Given the description of an element on the screen output the (x, y) to click on. 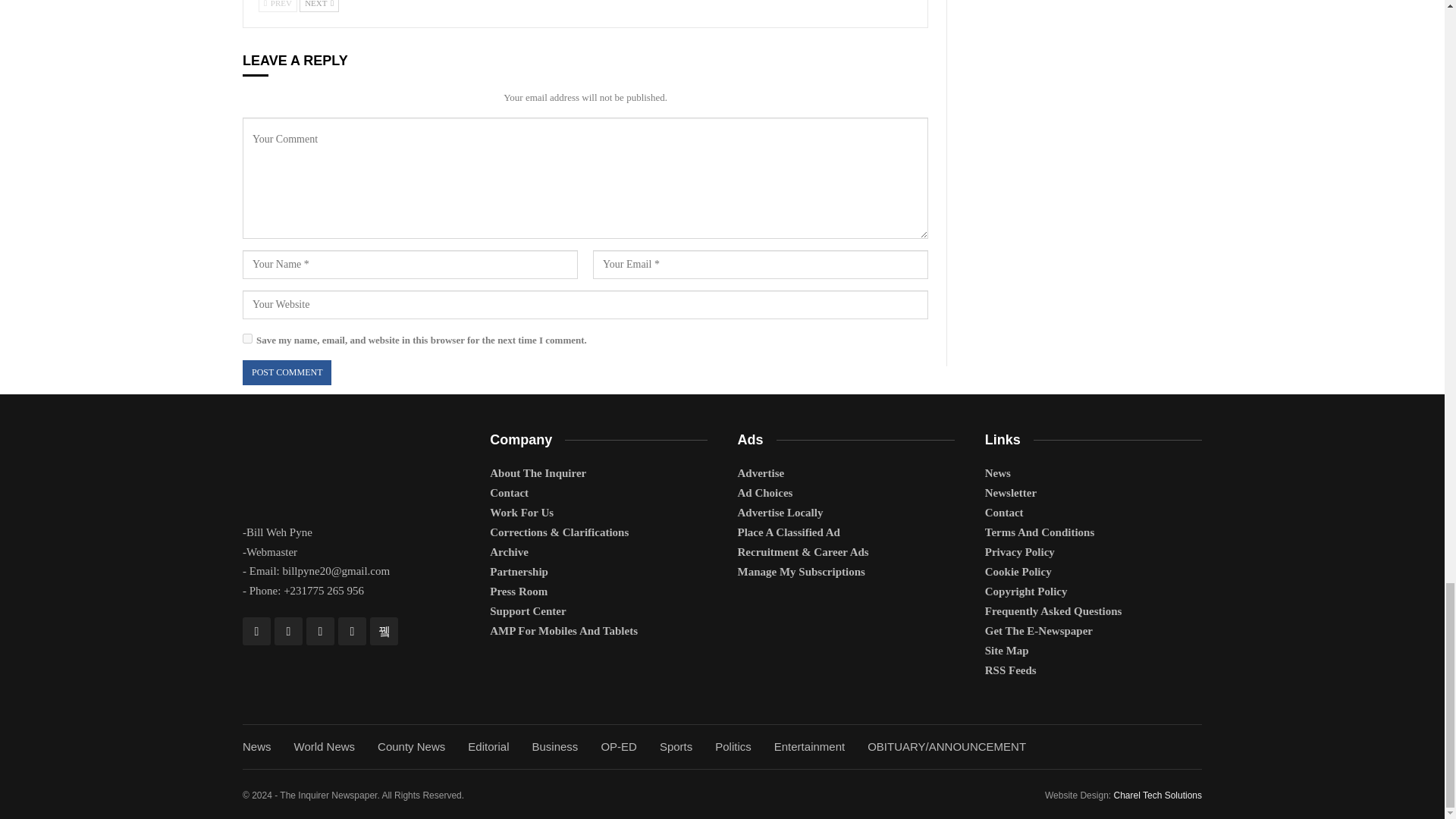
Post Comment (287, 372)
yes (247, 338)
